Given the description of an element on the screen output the (x, y) to click on. 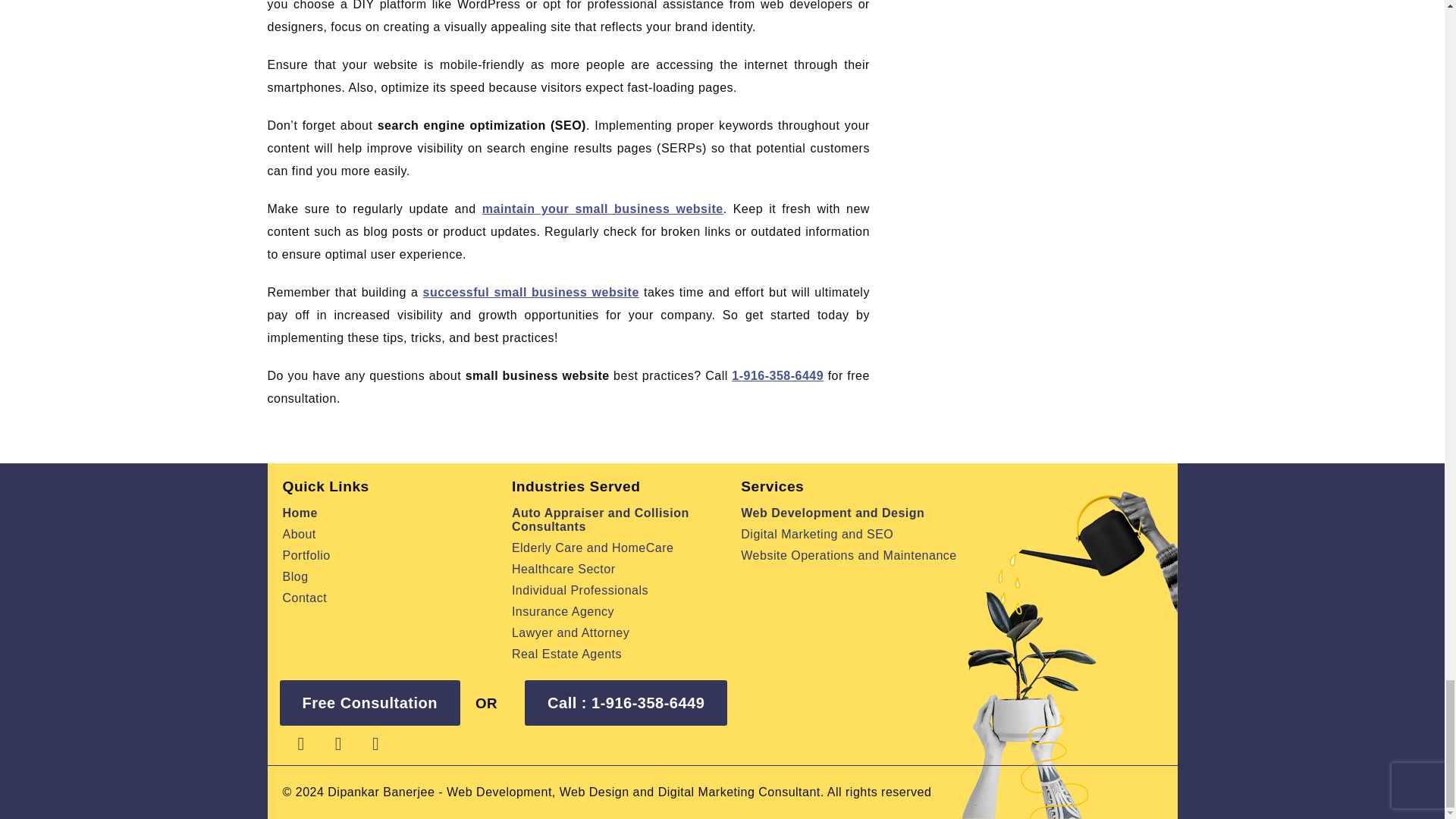
Facebook (300, 743)
Twitter (375, 743)
Linkedin (338, 743)
